Given the description of an element on the screen output the (x, y) to click on. 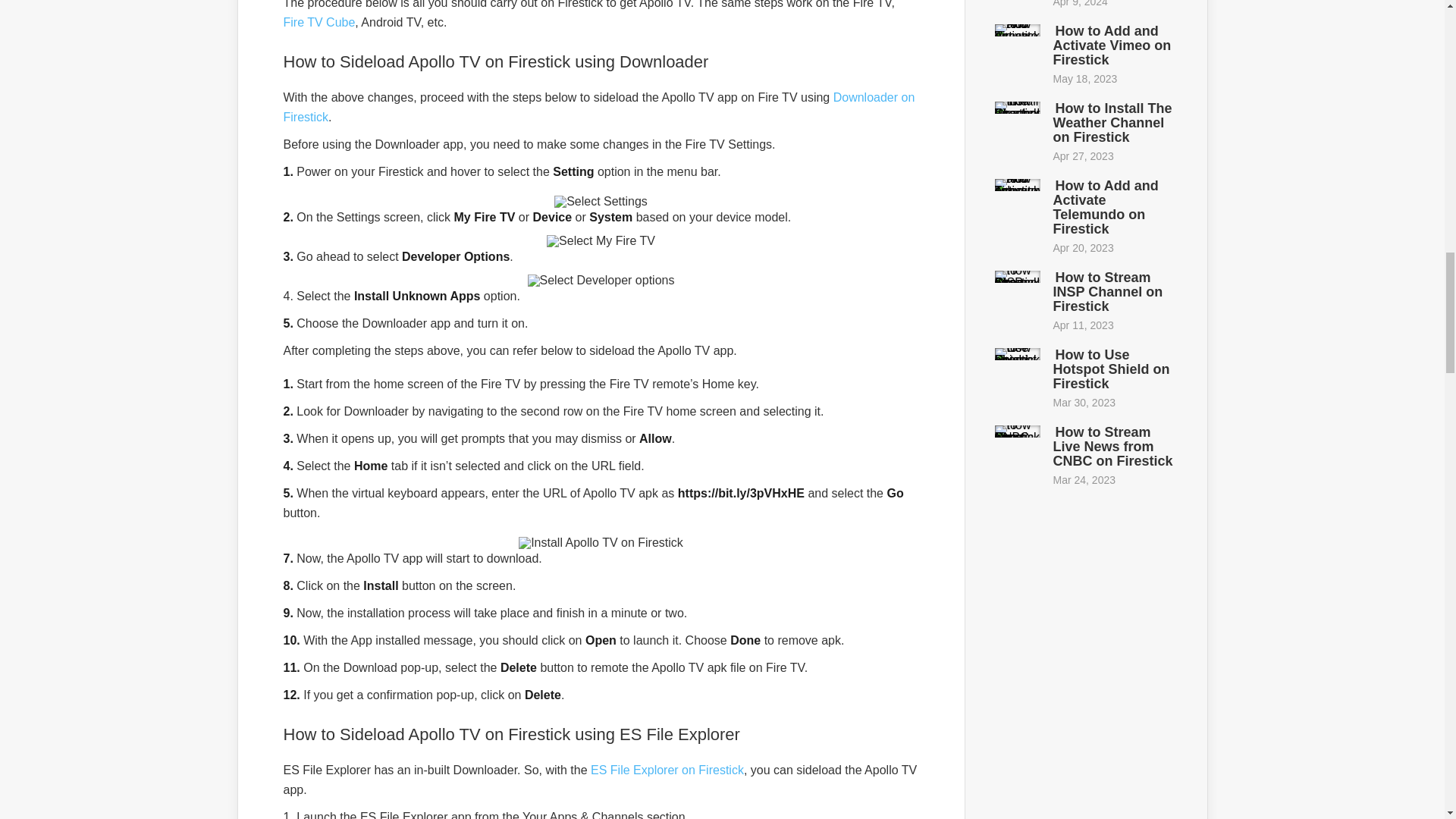
Fire TV Cube (319, 21)
ES File Explorer on Firestick (667, 769)
Downloader on Firestick (599, 106)
